Given the description of an element on the screen output the (x, y) to click on. 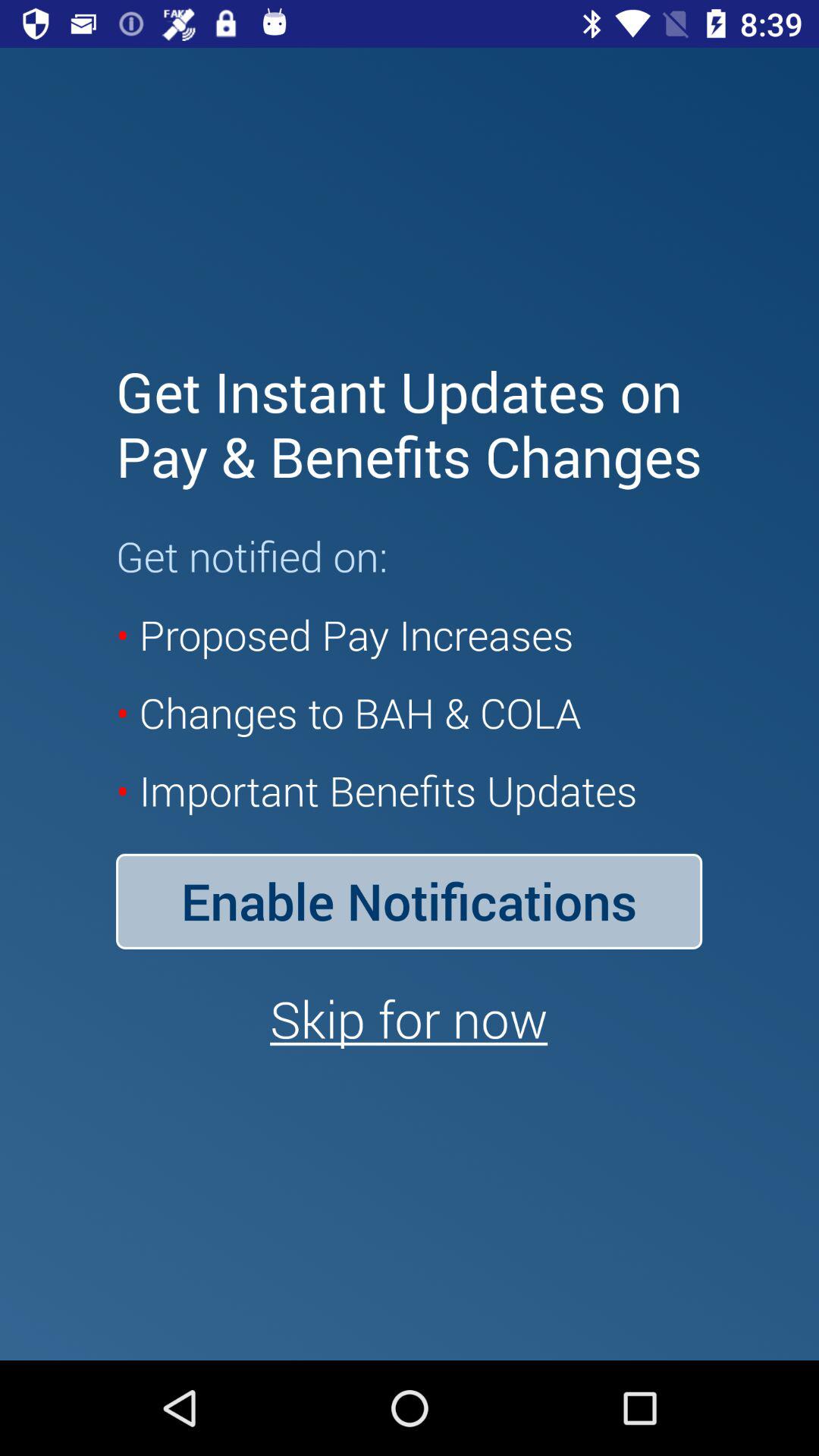
swipe to the enable notifications (409, 901)
